Given the description of an element on the screen output the (x, y) to click on. 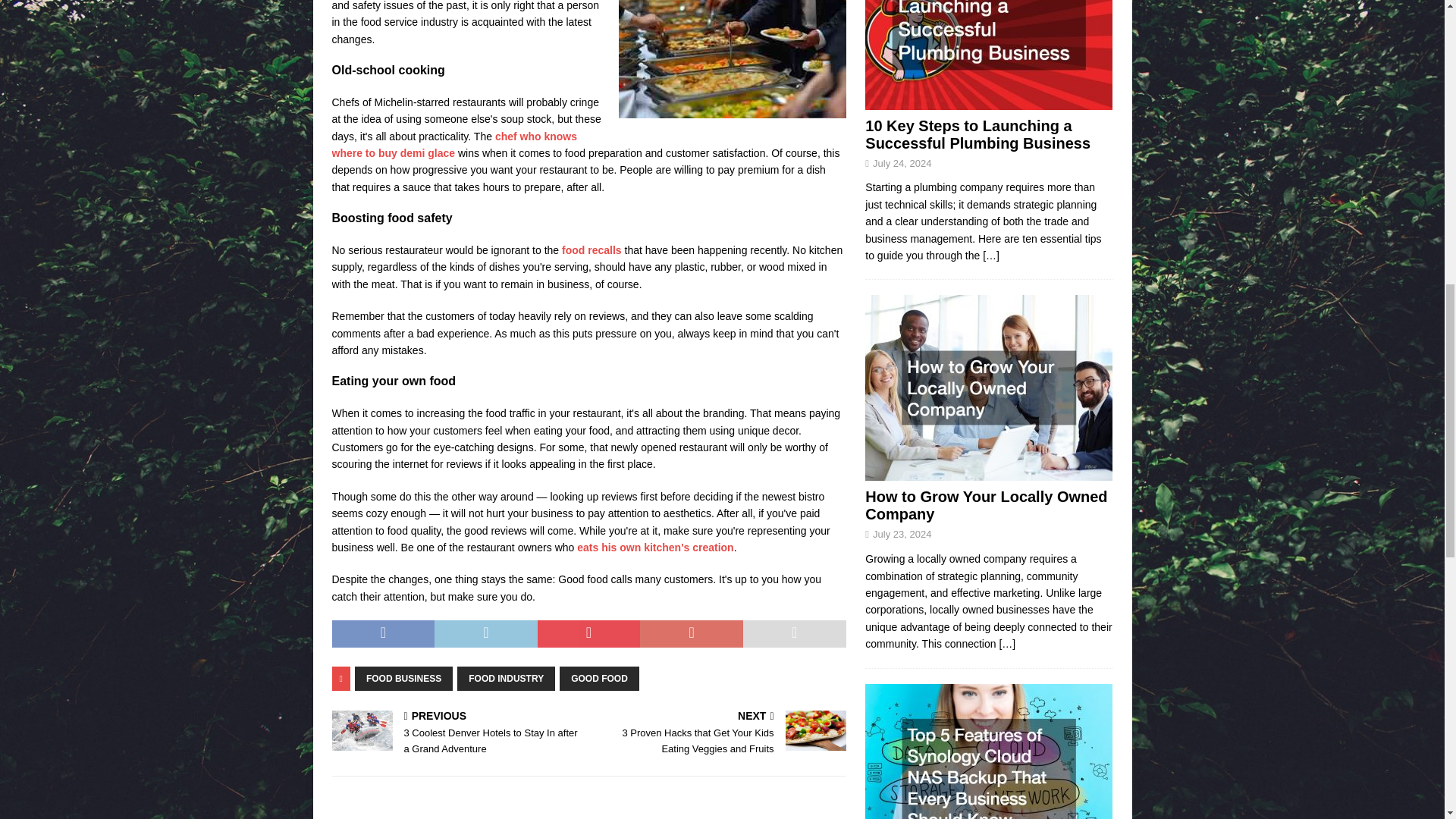
chef who knows where to buy demi glace (454, 144)
eats his own kitchen's creation (654, 547)
FOOD INDUSTRY (505, 678)
GOOD FOOD (599, 678)
10 Key Steps to Launching a Successful Plumbing Business (977, 134)
FOOD BUSINESS (403, 678)
IOL.co.za (654, 547)
GreeleyTribune.com (591, 250)
Food Industry (731, 58)
food recalls (591, 250)
Custom Culinary (454, 144)
